Given the description of an element on the screen output the (x, y) to click on. 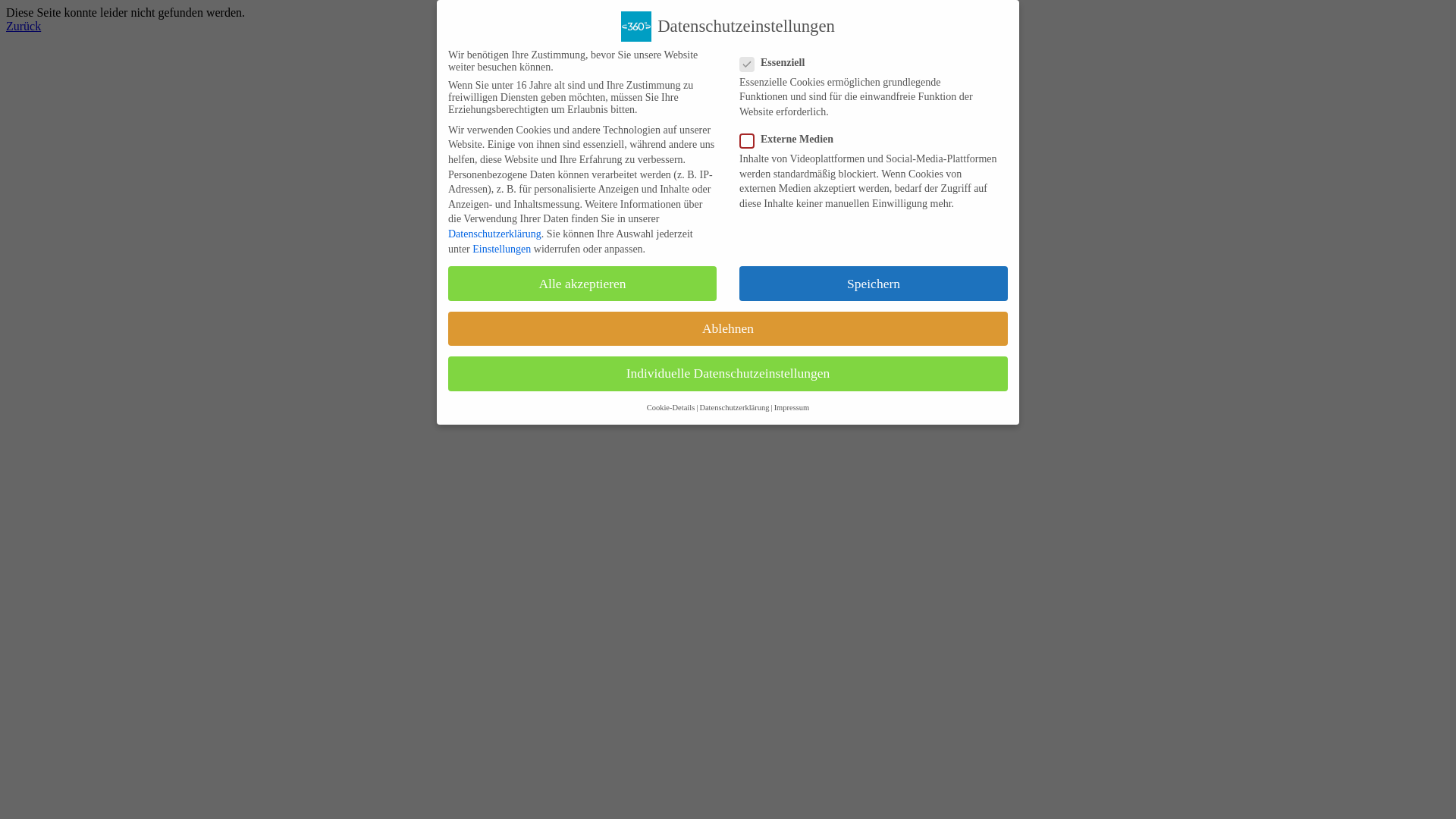
Speichern Element type: text (873, 283)
Cookie-Details Element type: text (670, 407)
Ablehnen Element type: text (727, 328)
Einstellungen Element type: text (501, 248)
Alle akzeptieren Element type: text (582, 283)
Impressum Element type: text (791, 407)
Individuelle Datenschutzeinstellungen Element type: text (727, 373)
